Given the description of an element on the screen output the (x, y) to click on. 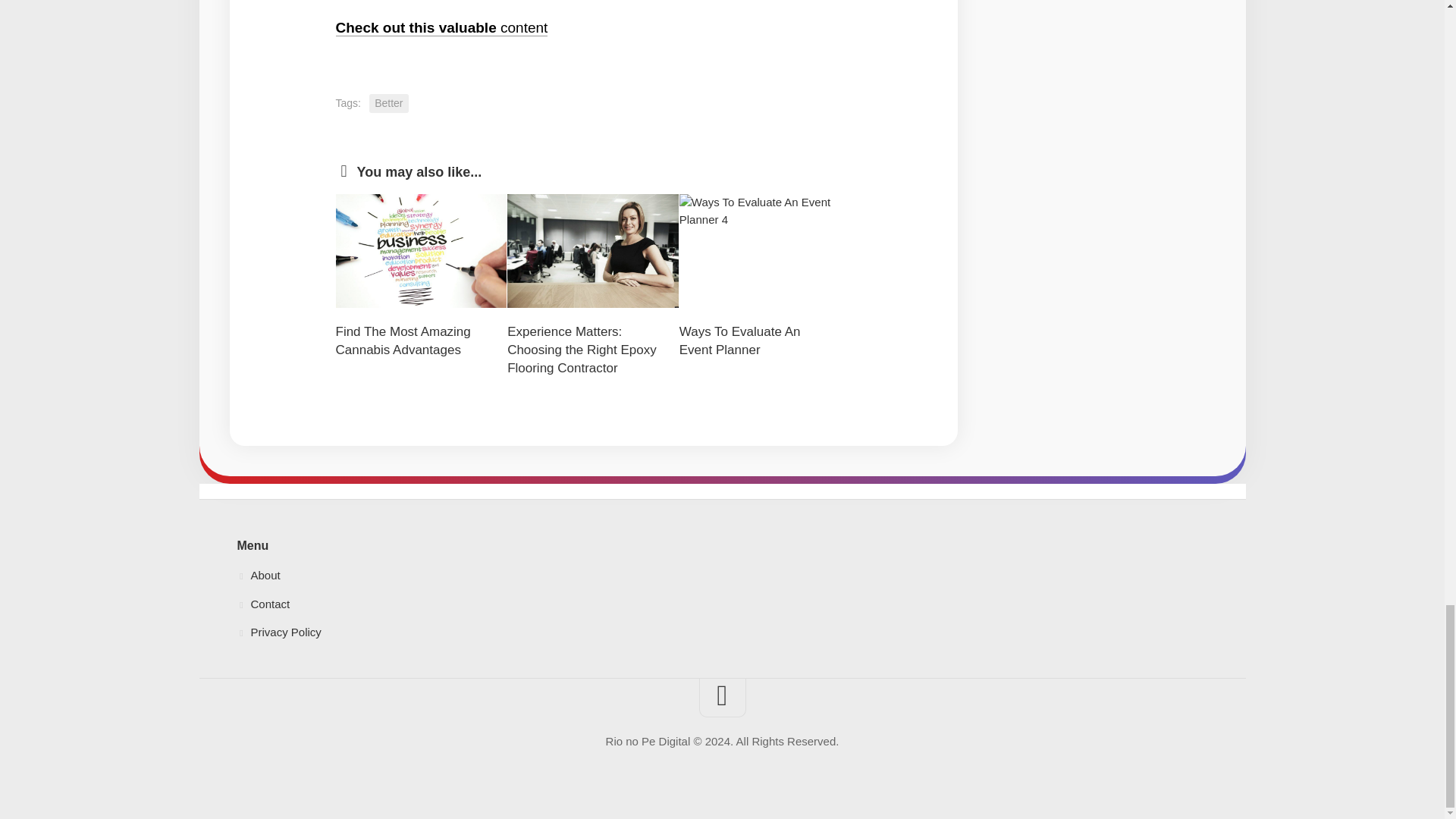
Check out this valuable content (440, 27)
Better (388, 103)
Ways To Evaluate An Event Planner (739, 340)
Find The Most Amazing Cannabis Advantages (402, 340)
